Given the description of an element on the screen output the (x, y) to click on. 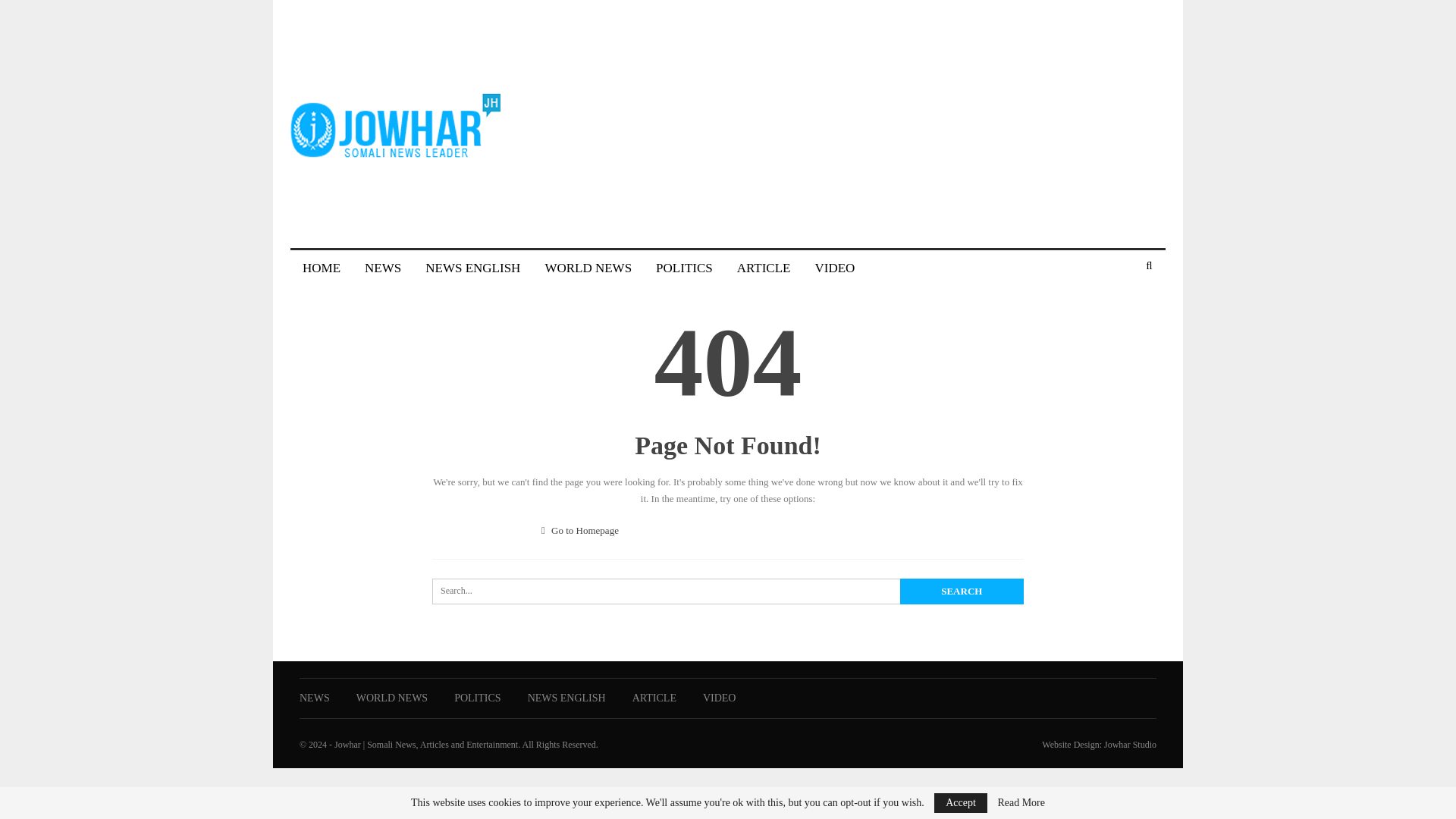
Search (961, 591)
VIDEO (834, 268)
ARTICLE (654, 697)
Search for: (727, 591)
NEWS ENGLISH (566, 697)
HOME (320, 268)
Go to Homepage (579, 530)
Search (961, 591)
Search (961, 591)
POLITICS (684, 268)
